Given the description of an element on the screen output the (x, y) to click on. 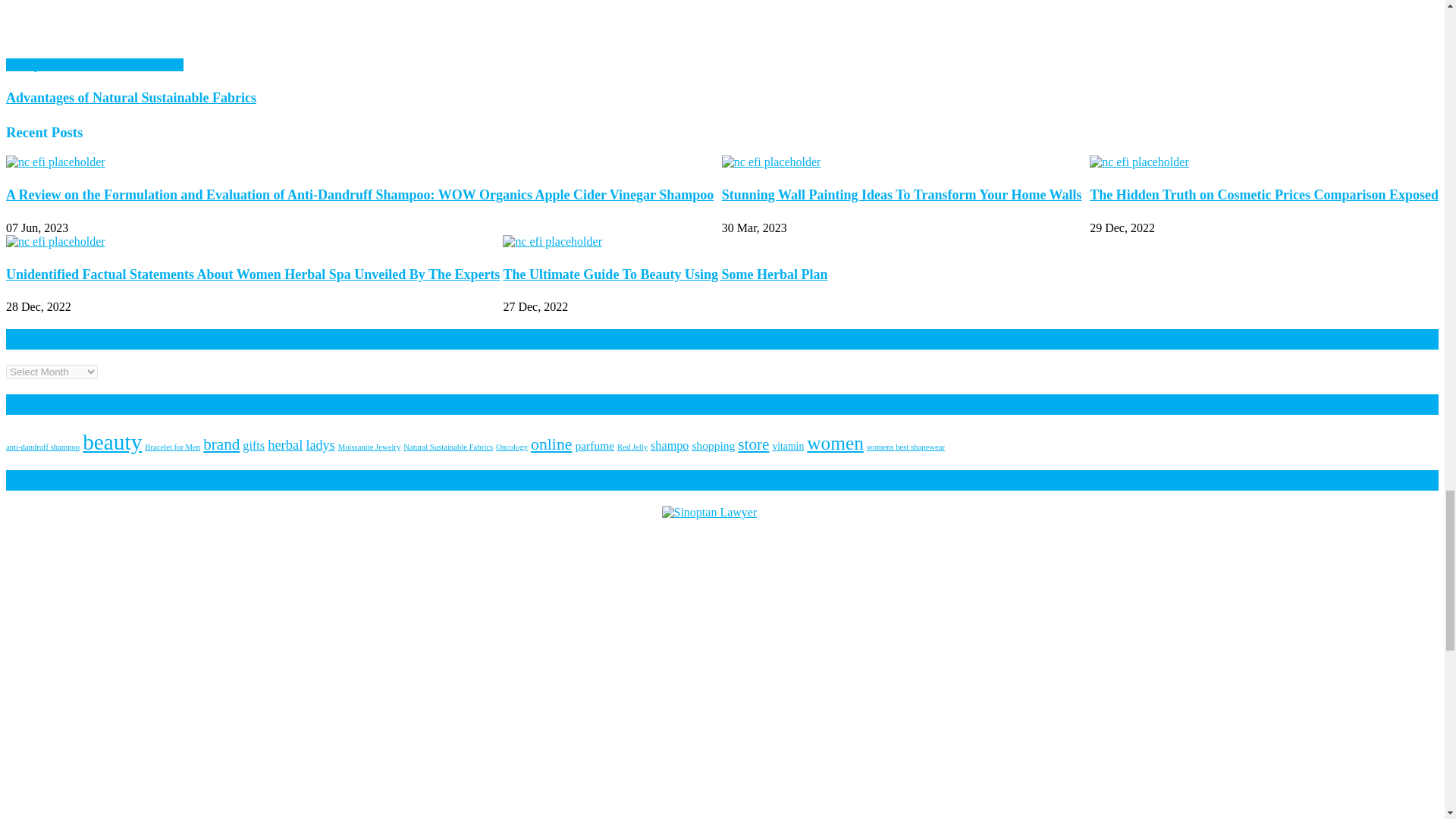
Stunning Wall Painting Ideas To Transform Your Home Walls (771, 161)
The Hidden Truth on Cosmetic Prices Comparison Exposed (1139, 161)
Advantages of Natural Sustainable Fabrics (721, 29)
Advantages of Natural Sustainable Fabrics (130, 97)
The Ultimate Guide To Beauty Using Some Herbal Plan (552, 241)
Natural Sustainable Fabrics (116, 64)
Lifestyle (27, 64)
